Given the description of an element on the screen output the (x, y) to click on. 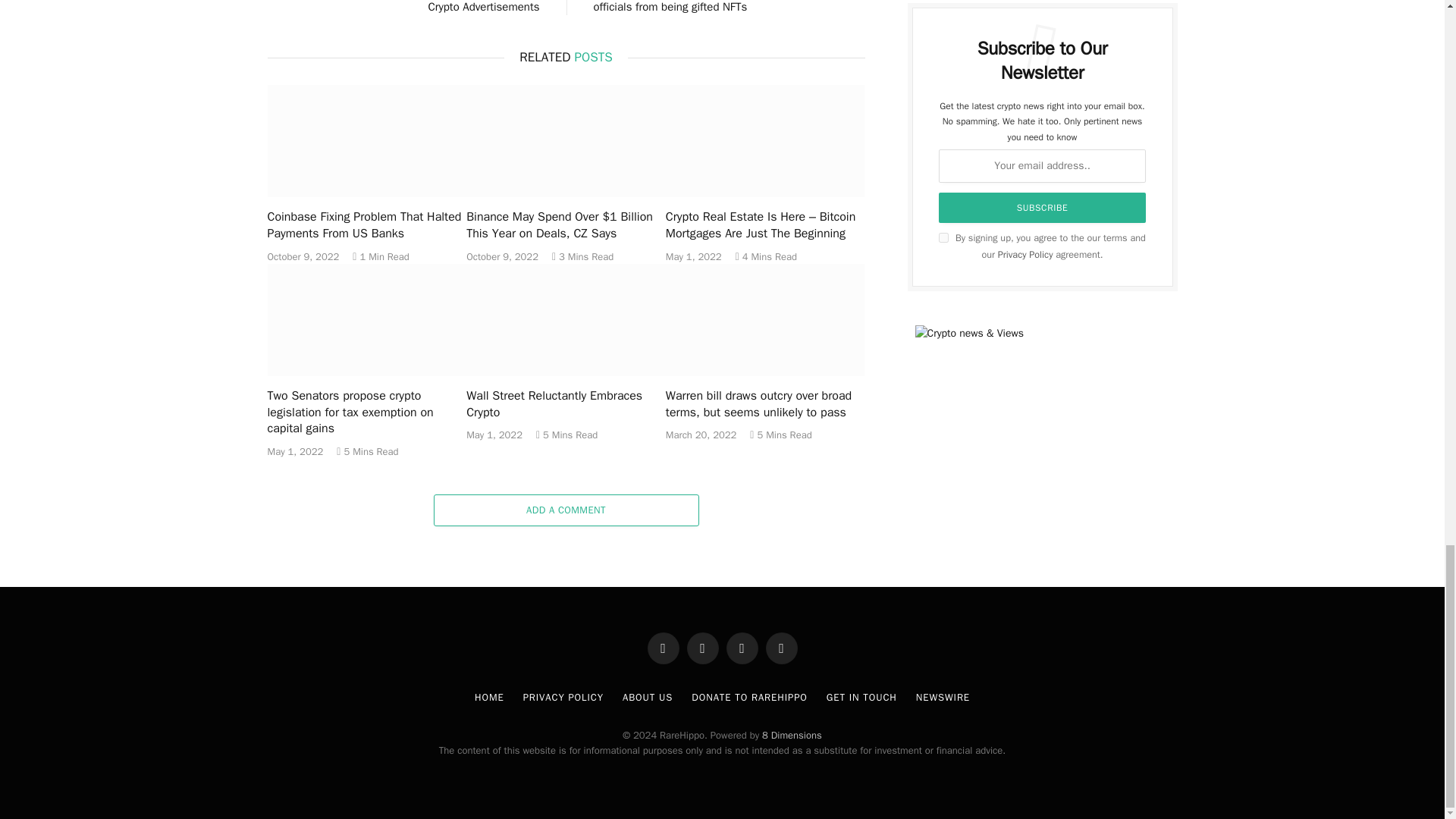
Subscribe (1043, 207)
on (944, 237)
